Given the description of an element on the screen output the (x, y) to click on. 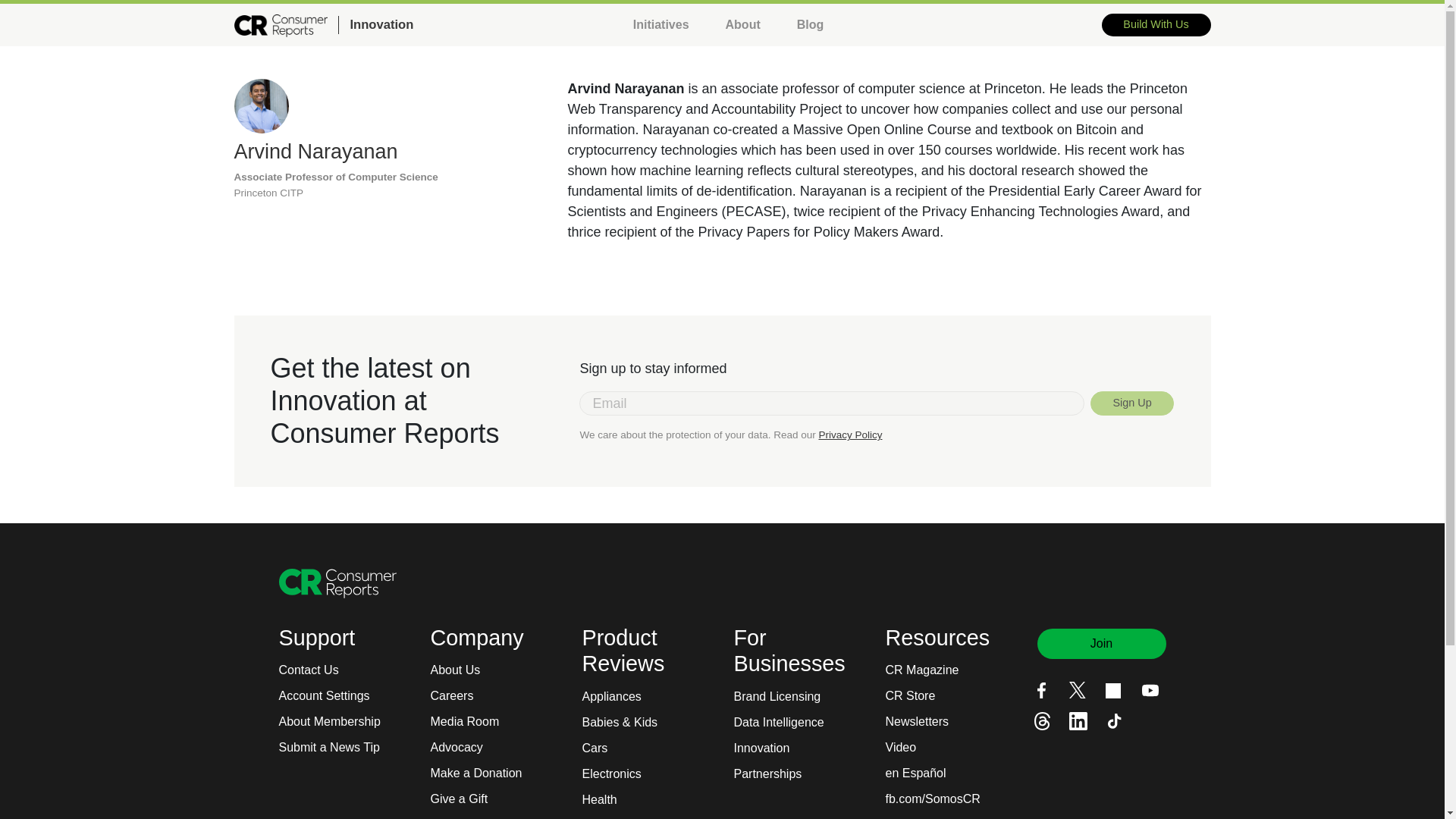
Cars (595, 748)
Innovation at Consumer Reports (375, 25)
Account Settings (324, 695)
Electronics (612, 773)
Give a Gift (458, 799)
Initiatives (661, 24)
Blog (809, 24)
Build With Us (1156, 24)
Submit a News Tip (329, 747)
Facebook (1040, 690)
Instagram (1113, 690)
CR Store (910, 695)
Data Intelligence (778, 722)
Brand Licensing (777, 696)
Arvind Narayanan (314, 151)
